Given the description of an element on the screen output the (x, y) to click on. 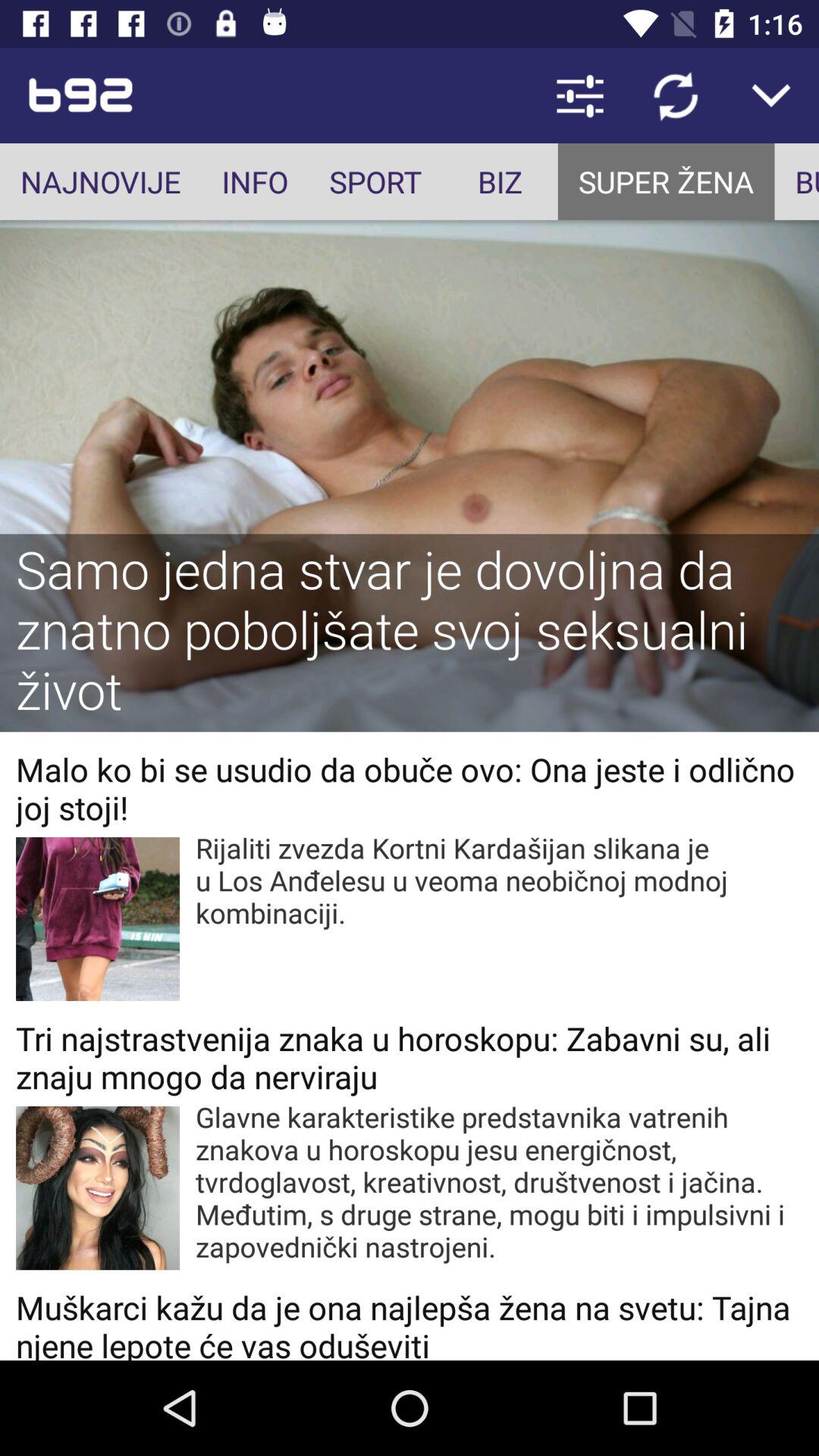
swipe until tri najstrastvenija znaka item (409, 1057)
